Given the description of an element on the screen output the (x, y) to click on. 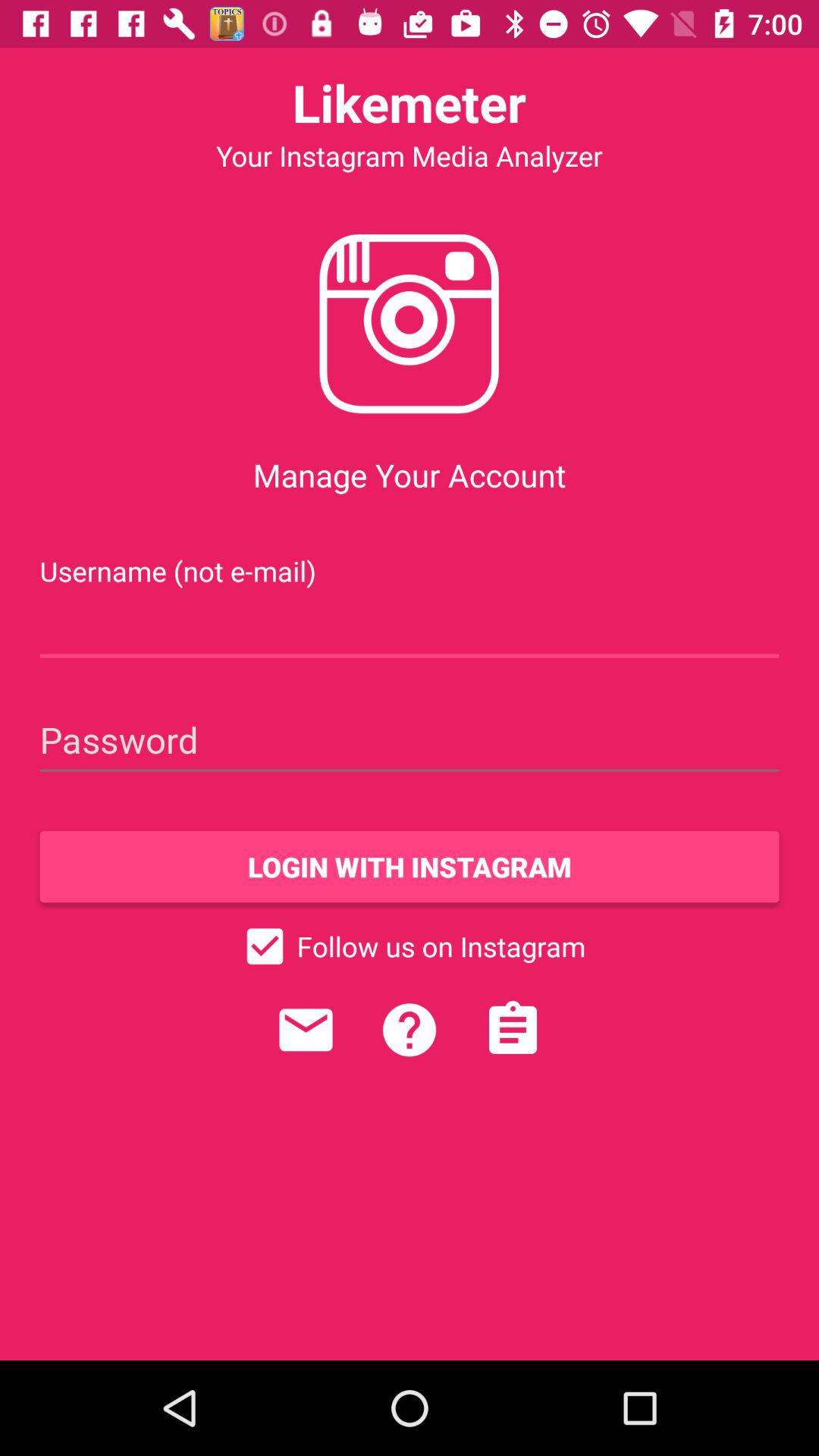
open help (409, 1029)
